Given the description of an element on the screen output the (x, y) to click on. 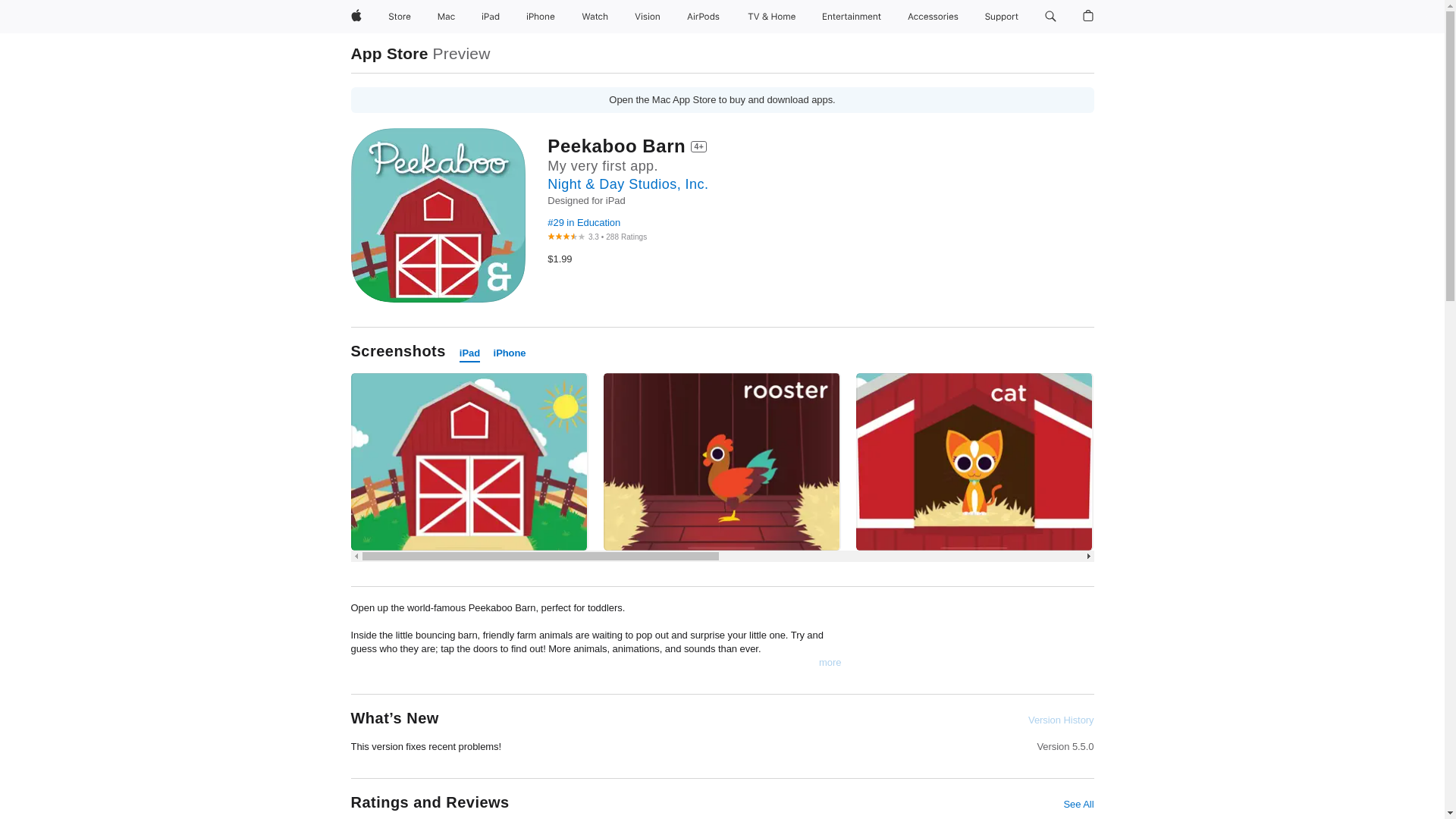
iPad (490, 16)
iPhone (539, 16)
Accessories (932, 16)
Watch (594, 16)
Support (1001, 16)
See All (1077, 804)
Store (398, 16)
Vision (647, 16)
Entertainment (851, 16)
App Store (389, 53)
